Given the description of an element on the screen output the (x, y) to click on. 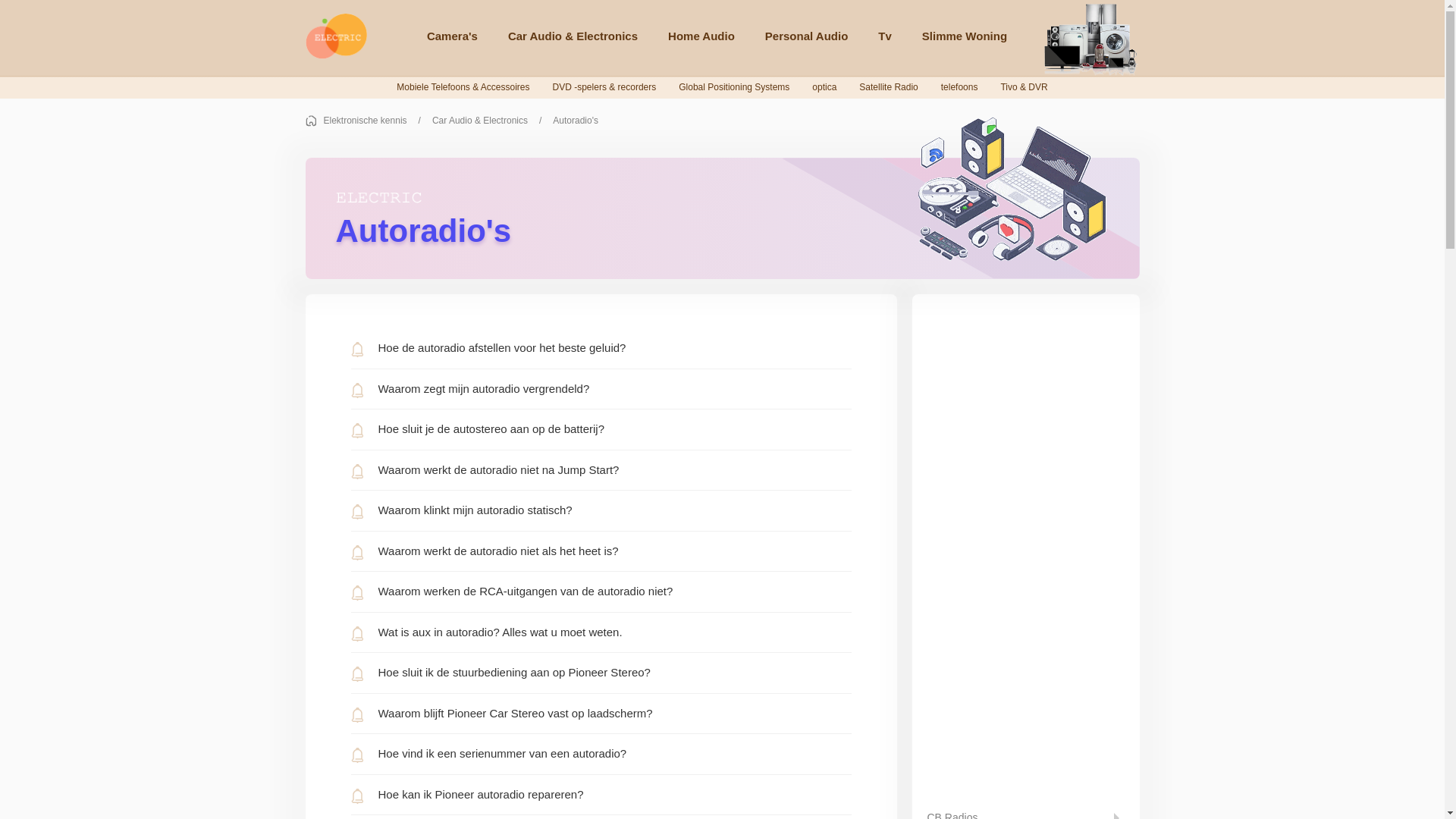
optica Element type: text (823, 86)
telefoons Element type: text (959, 86)
Hoe sluit ik de stuurbediening aan op Pioneer Stereo? Element type: text (600, 672)
Hoe sluit je de autostereo aan op de batterij? Element type: text (600, 429)
Advertisement Element type: hover (1024, 536)
Car Audio & Electronics Element type: text (492, 120)
Waarom blijft Pioneer Car Stereo vast op laadscherm? Element type: text (600, 713)
Tv Element type: text (884, 36)
Elektronische kennis Element type: text (377, 120)
Autoradio's Element type: text (575, 120)
Camera'S Element type: text (451, 36)
Waarom klinkt mijn autoradio statisch? Element type: text (600, 510)
Hoe vind ik een serienummer van een autoradio? Element type: text (600, 753)
Mobiele Telefoons & Accessoires Element type: text (462, 86)
Waarom werkt de autoradio niet als het heet is? Element type: text (600, 551)
Wat is aux in autoradio? Alles wat u moet weten. Element type: text (600, 631)
Car Audio & Electronics Element type: text (572, 36)
Global Positioning Systems Element type: text (733, 86)
DVD -spelers & recorders Element type: text (604, 86)
Home Audio Element type: text (700, 36)
Waarom werkt de autoradio niet na Jump Start? Element type: text (600, 469)
Hoe kan ik Pioneer autoradio repareren? Element type: text (600, 794)
Personal Audio Element type: text (805, 36)
Tivo & DVR Element type: text (1023, 86)
Hoe de autoradio afstellen voor het beste geluid? Element type: text (600, 348)
Slimme Woning Element type: text (964, 36)
Waarom werken de RCA-uitgangen van de autoradio niet? Element type: text (600, 591)
Satellite Radio Element type: text (887, 86)
Waarom zegt mijn autoradio vergrendeld? Element type: text (600, 389)
